Given the description of an element on the screen output the (x, y) to click on. 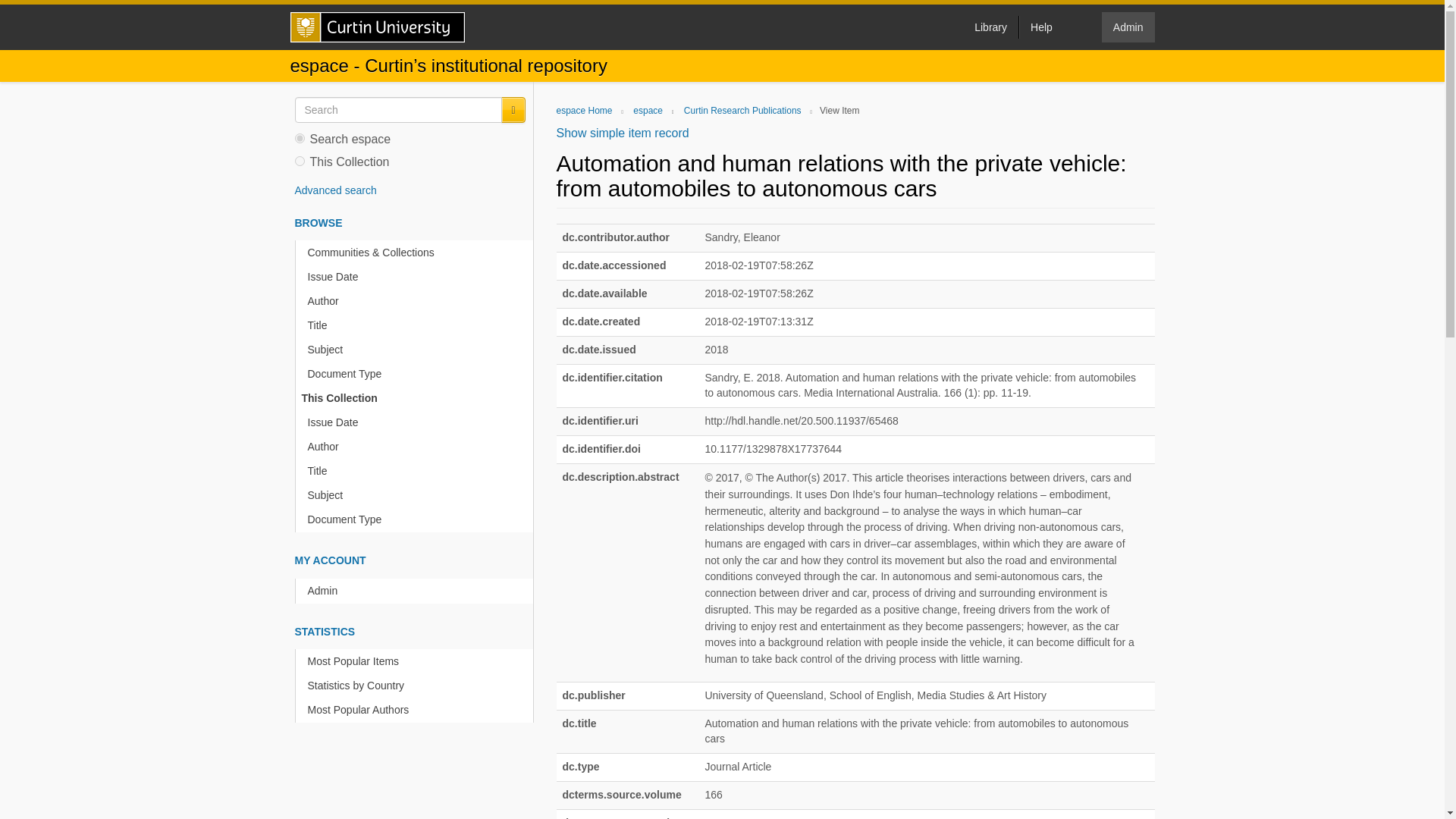
espace Home (584, 110)
Subject (416, 349)
Go (512, 109)
Subject (416, 495)
Document Type (416, 373)
Curtin University Homepage (376, 27)
Help (1040, 26)
Author (416, 301)
Library (989, 26)
Author (416, 446)
This Collection (413, 398)
espace (647, 110)
Title (416, 325)
Advanced search (334, 190)
Show simple item record (622, 132)
